Given the description of an element on the screen output the (x, y) to click on. 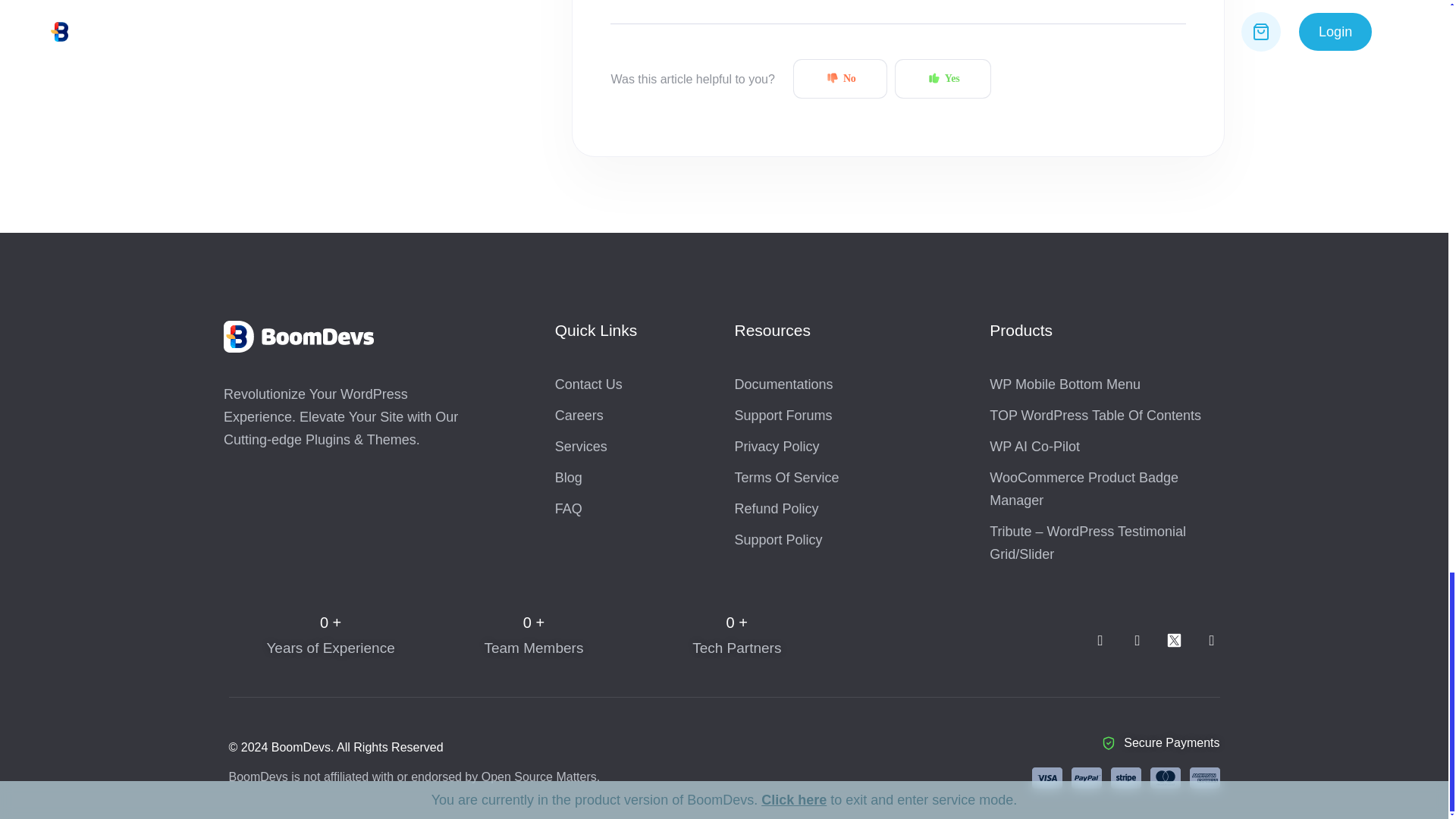
No votes yet (943, 78)
No votes yet (839, 78)
